Given the description of an element on the screen output the (x, y) to click on. 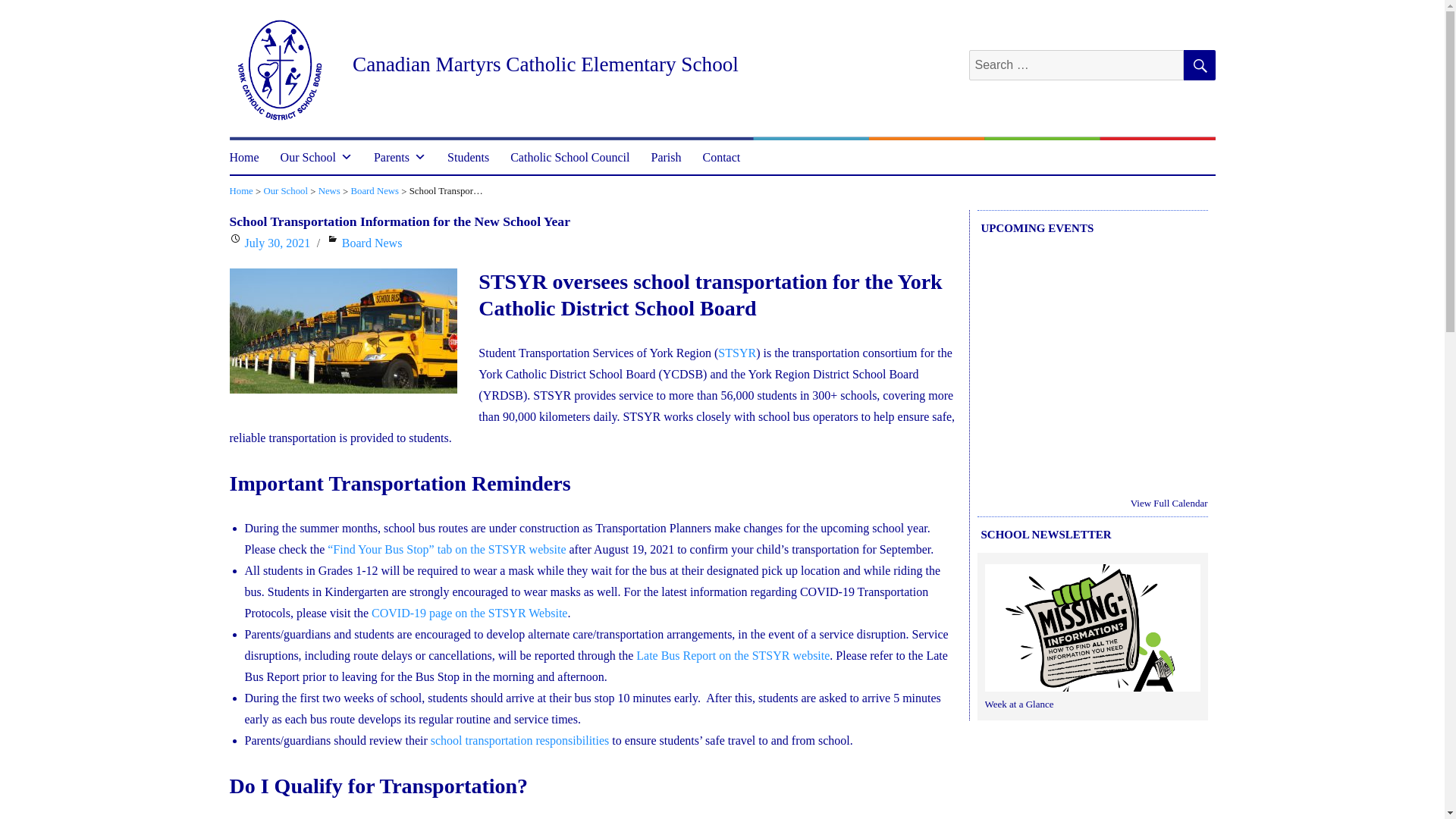
Go to News. (329, 191)
Home (243, 156)
school transportation responsibilities (520, 739)
COVID-19 page on the STSYR Website (469, 612)
Catholic School Council (569, 156)
Late Bus Report on the STSYR website (732, 655)
Week at a Glance (1091, 630)
Our School (285, 191)
Contact (721, 156)
Board News (374, 191)
Parish (665, 156)
Board News (372, 242)
Our School (315, 156)
Students (467, 156)
Search for: (1076, 64)
